Given the description of an element on the screen output the (x, y) to click on. 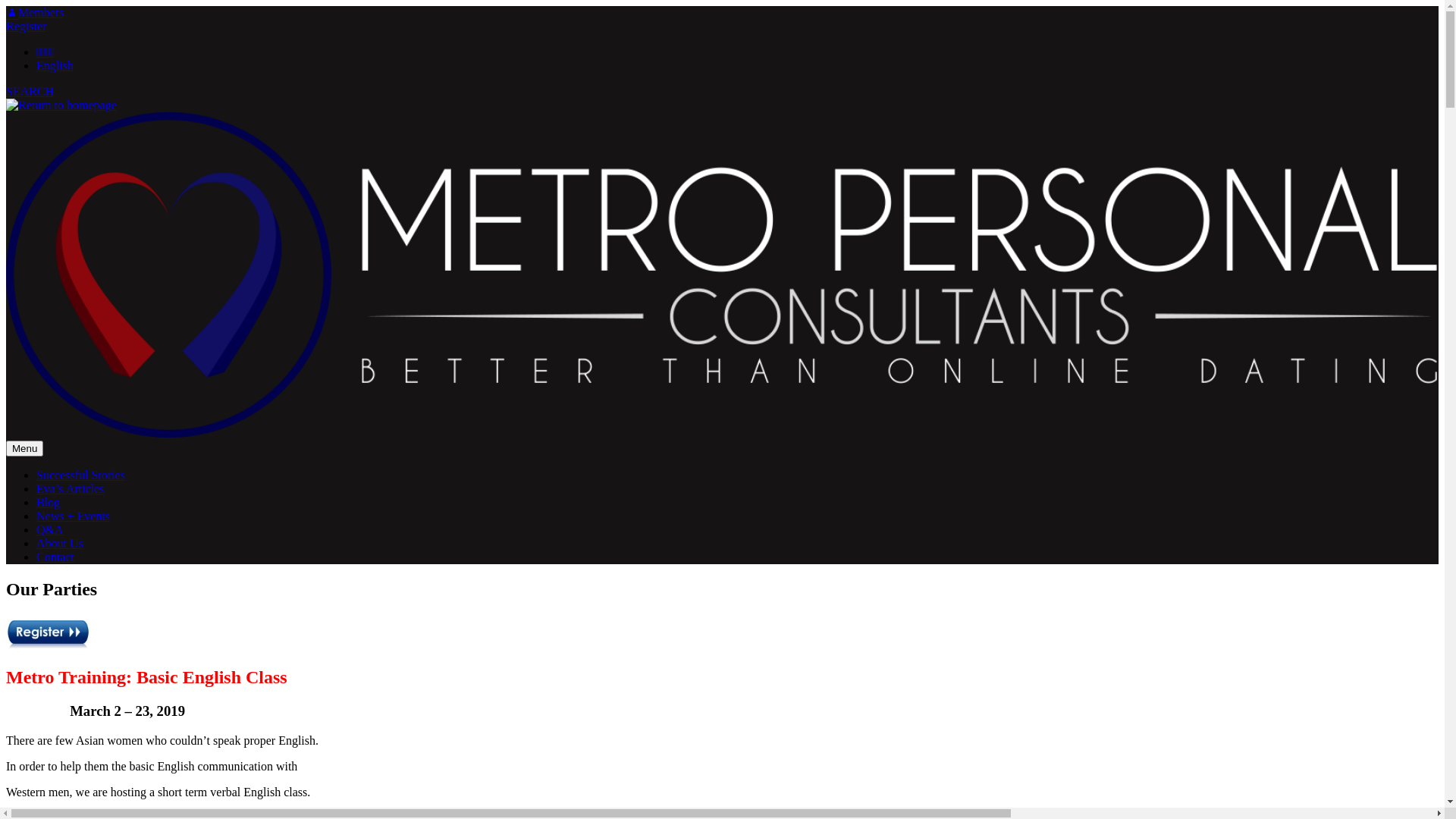
Contact Element type: text (55, 556)
Return to homepage Element type: hover (722, 268)
Menu Element type: text (24, 448)
SEARCH Element type: text (29, 90)
Register Element type: text (26, 25)
Skip to main content Element type: text (5, 5)
English Element type: text (54, 65)
Successful Stories Element type: text (80, 474)
Blog Element type: text (47, 501)
About Us Element type: text (59, 542)
Members Element type: text (34, 12)
Q&A Element type: text (49, 529)
News + Events Element type: text (72, 515)
